Given the description of an element on the screen output the (x, y) to click on. 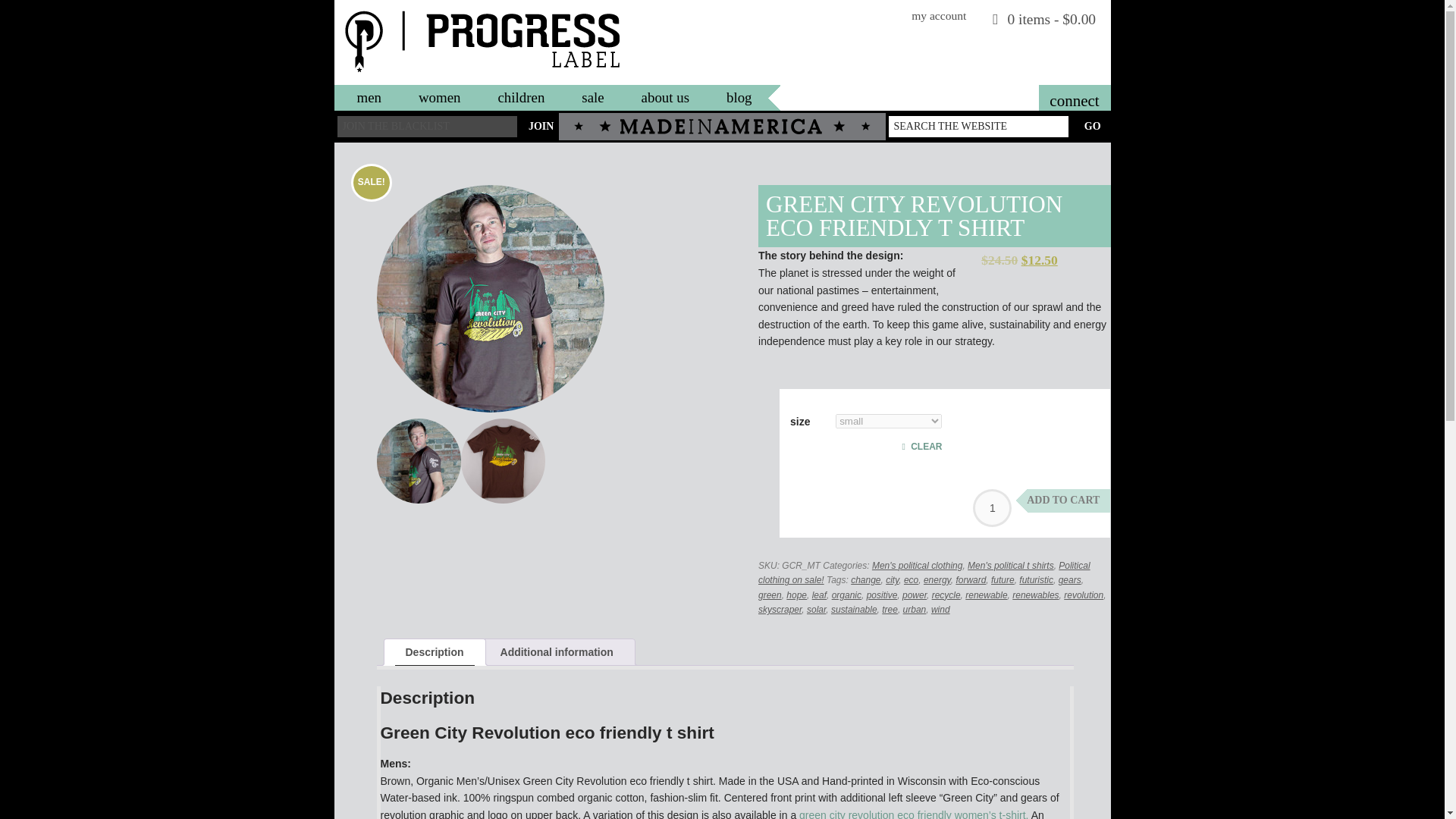
Green City Revolution Men's T-shirt Sleeve print by PROGRESS (417, 460)
my account (938, 15)
View your shopping cart (1044, 19)
CLEAR (888, 444)
GO (1092, 126)
1 (991, 507)
sale (592, 97)
Green City Mens T-shirt Model (489, 298)
JOIN (540, 126)
SEARCH THE WEBSITE (978, 126)
